Given the description of an element on the screen output the (x, y) to click on. 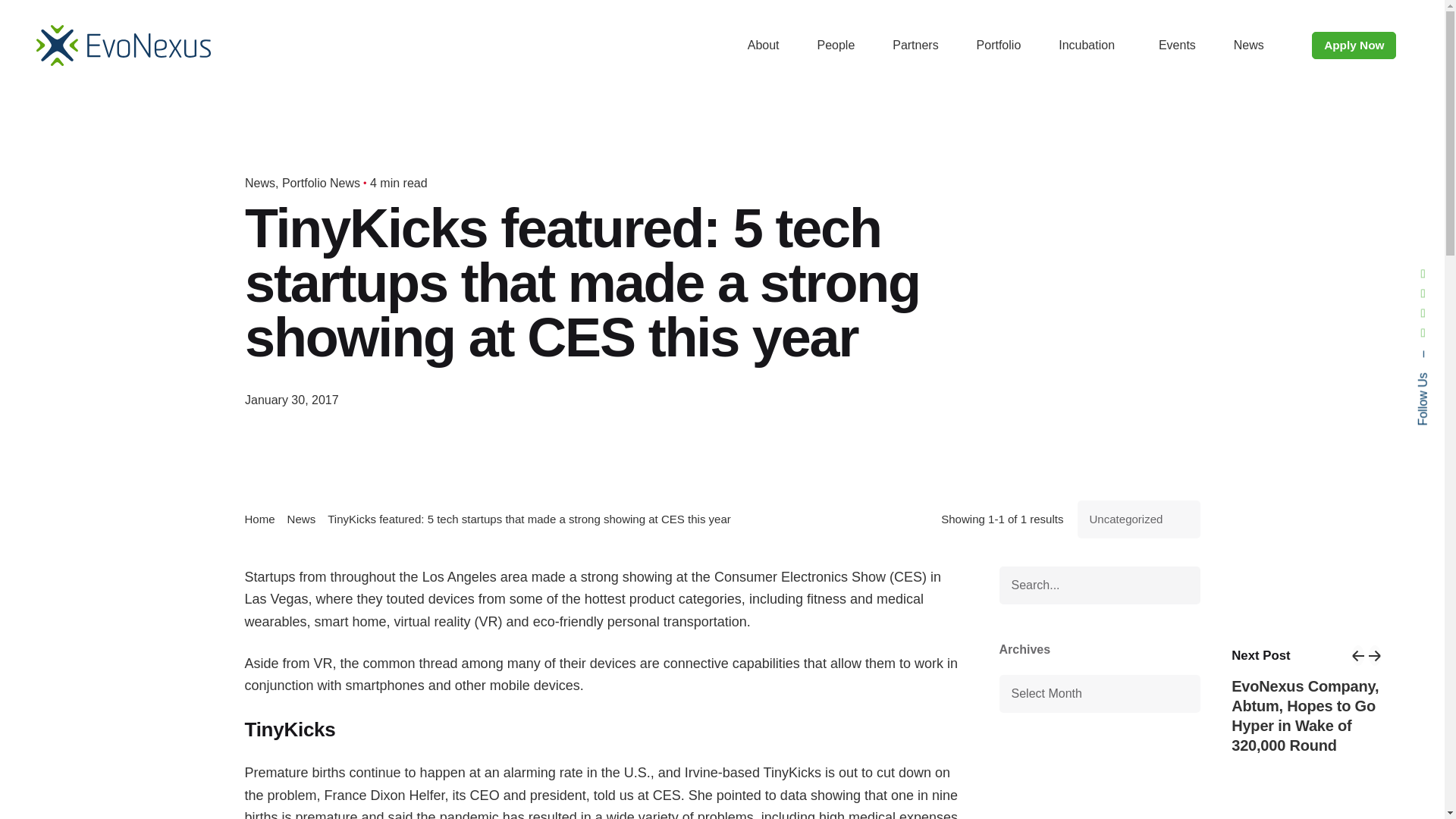
Partners (914, 45)
News (261, 182)
Events (1177, 45)
Incubation (1089, 45)
About (763, 45)
Portfolio (999, 45)
News (1248, 45)
People (836, 45)
Apply Now (1353, 44)
Home (259, 518)
